Given the description of an element on the screen output the (x, y) to click on. 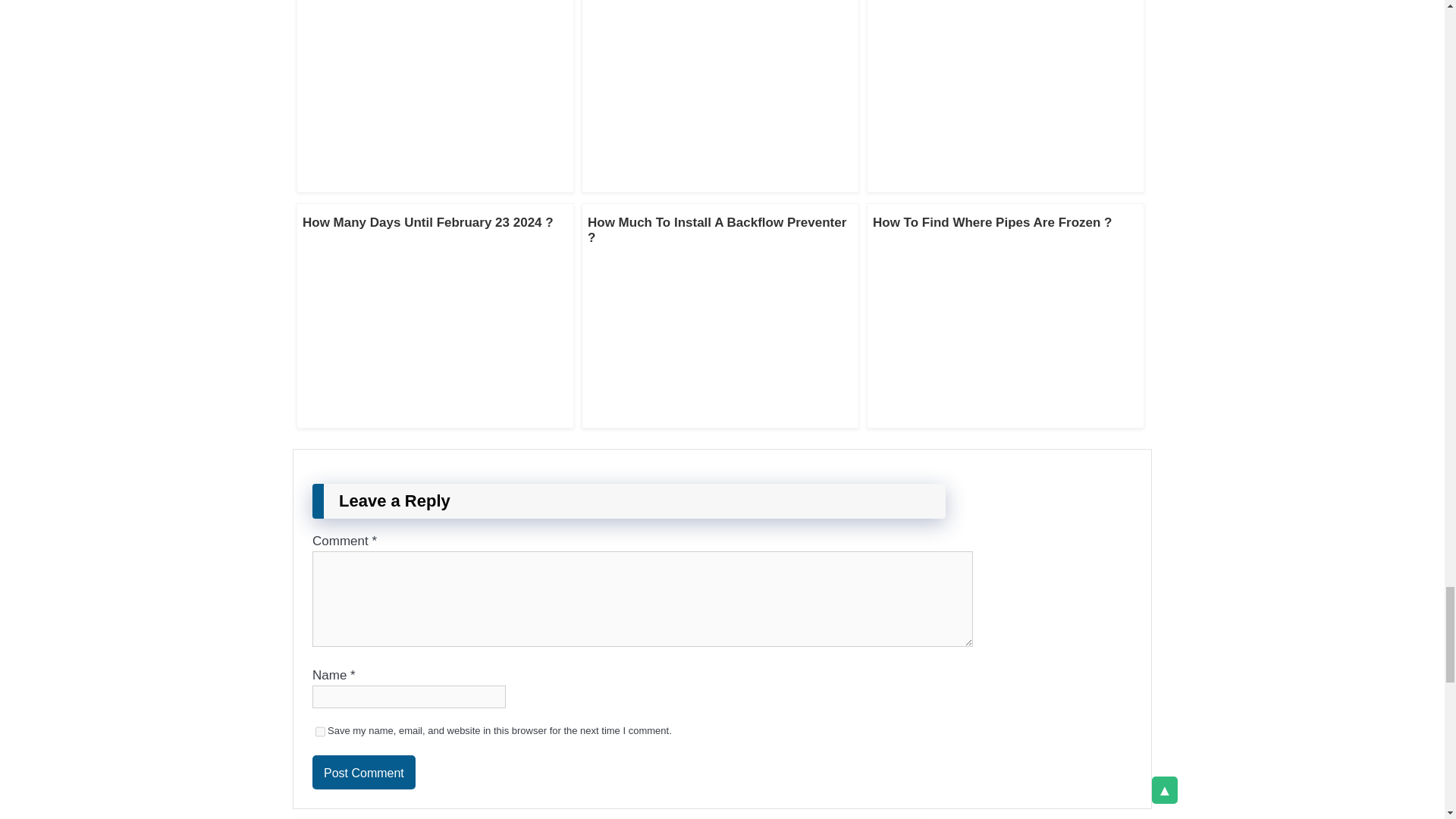
Post Comment (363, 772)
Post Comment (363, 772)
How Much To Install A Backflow Preventer ? (716, 229)
How Many Days Until February 23 2024 ? (427, 222)
